Given the description of an element on the screen output the (x, y) to click on. 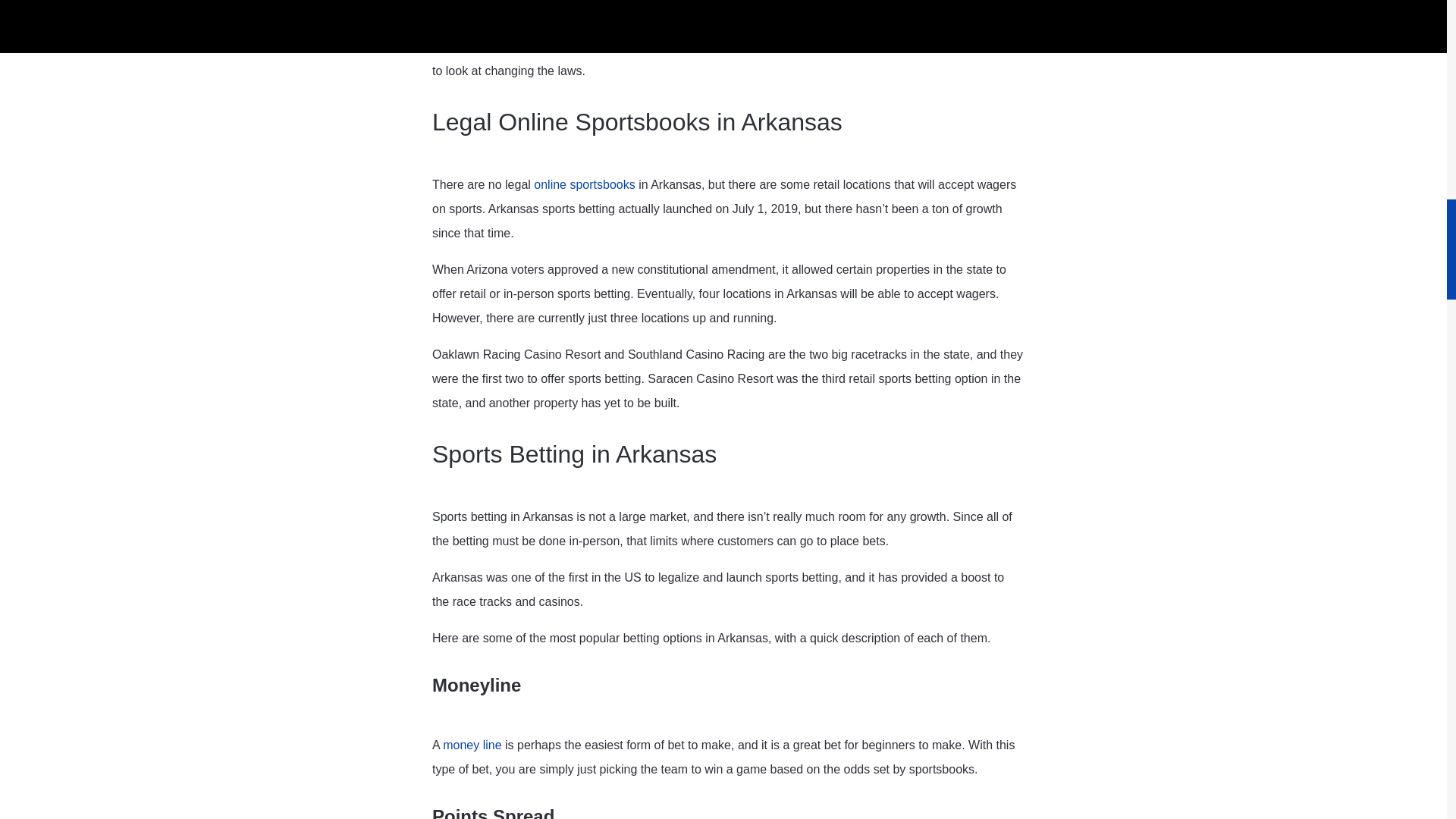
online sportsbooks (584, 184)
money line (471, 744)
